Given the description of an element on the screen output the (x, y) to click on. 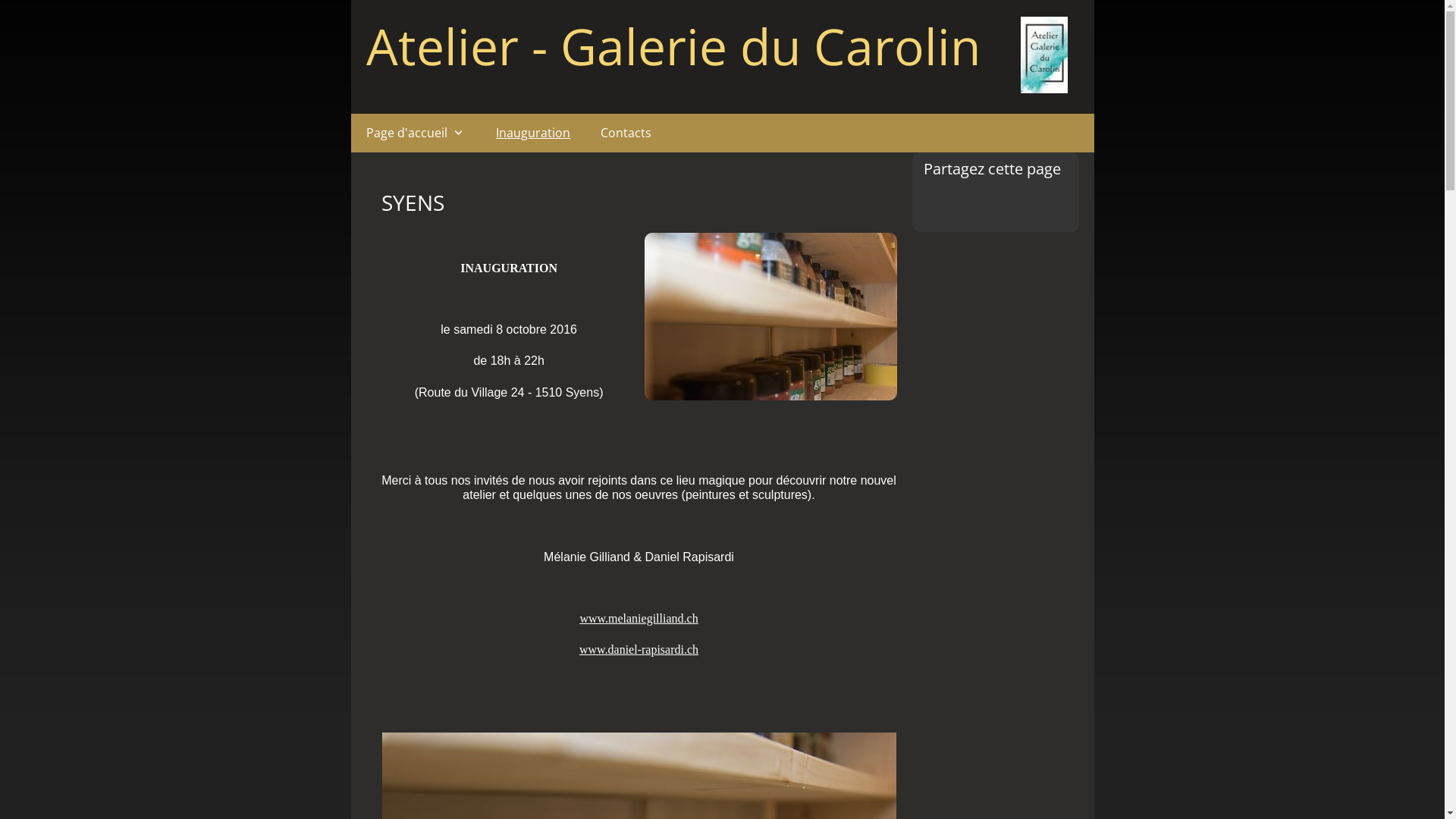
Atelier - Galerie du Carolin Element type: text (672, 45)
Inauguration Element type: text (532, 132)
Page d'accueil Element type: text (415, 132)
www.melaniegilliand.ch Element type: text (638, 617)
Contacts Element type: text (625, 132)
www.daniel-rapisardi.ch Element type: text (638, 649)
